Given the description of an element on the screen output the (x, y) to click on. 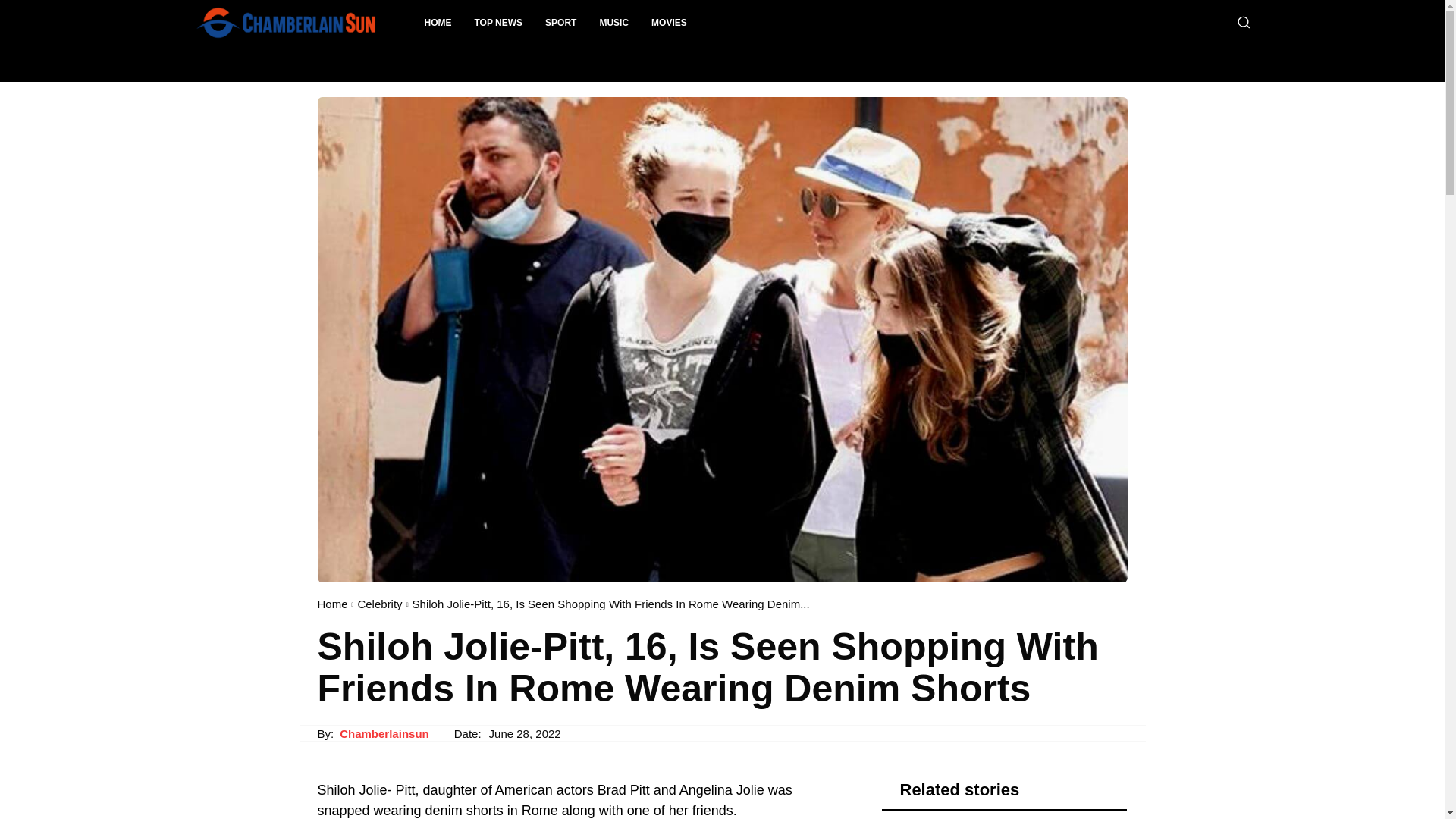
View all posts in Celebrity (378, 603)
TOP NEWS (498, 22)
SPORT (561, 22)
Home (332, 603)
MOVIES (669, 22)
HOME (437, 22)
MUSIC (614, 22)
Chamberlainsun (384, 734)
Celebrity (378, 603)
